Given the description of an element on the screen output the (x, y) to click on. 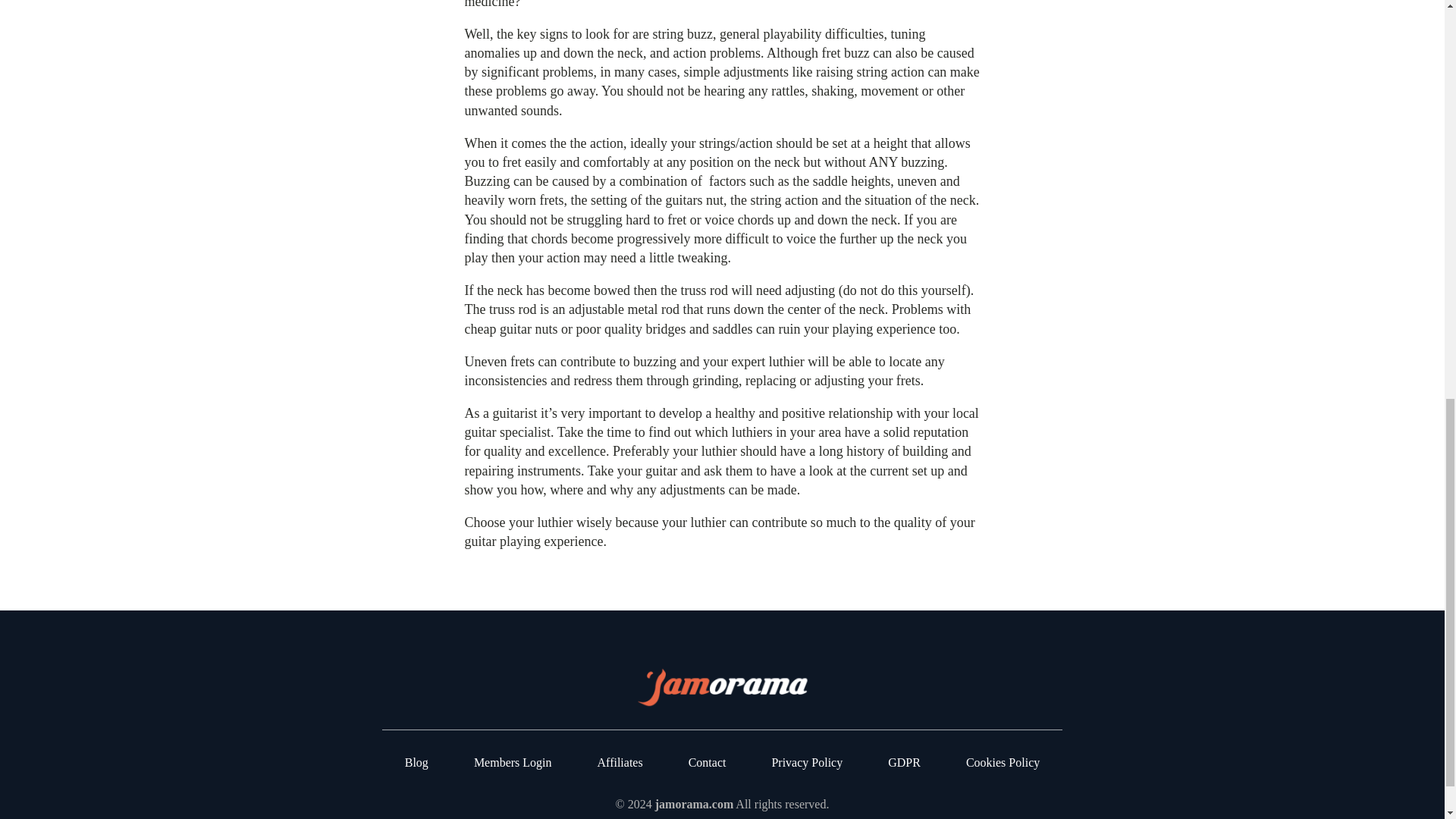
Blog (416, 762)
Contact (707, 762)
Affiliates (619, 762)
Members Login (512, 762)
Cookies Policy (1002, 762)
GDPR (904, 762)
Privacy Policy (807, 762)
